Given the description of an element on the screen output the (x, y) to click on. 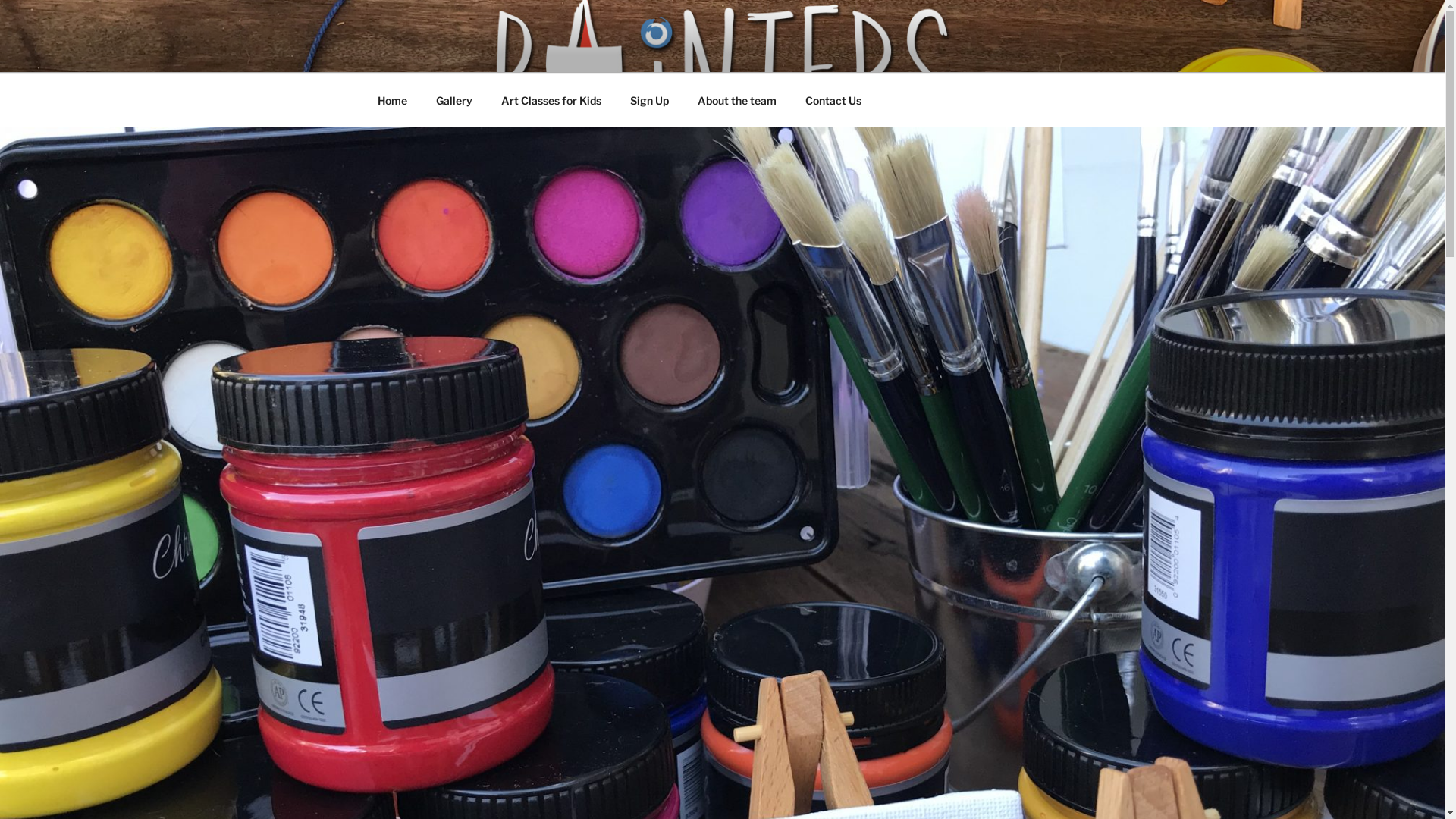
About the team Element type: text (736, 100)
Gallery Element type: text (454, 100)
Home Element type: text (392, 100)
LES PETITS PAINTERS Element type: text (555, 52)
Art Classes for Kids Element type: text (551, 100)
Sign Up Element type: text (649, 100)
Contact Us Element type: text (832, 100)
